Given the description of an element on the screen output the (x, y) to click on. 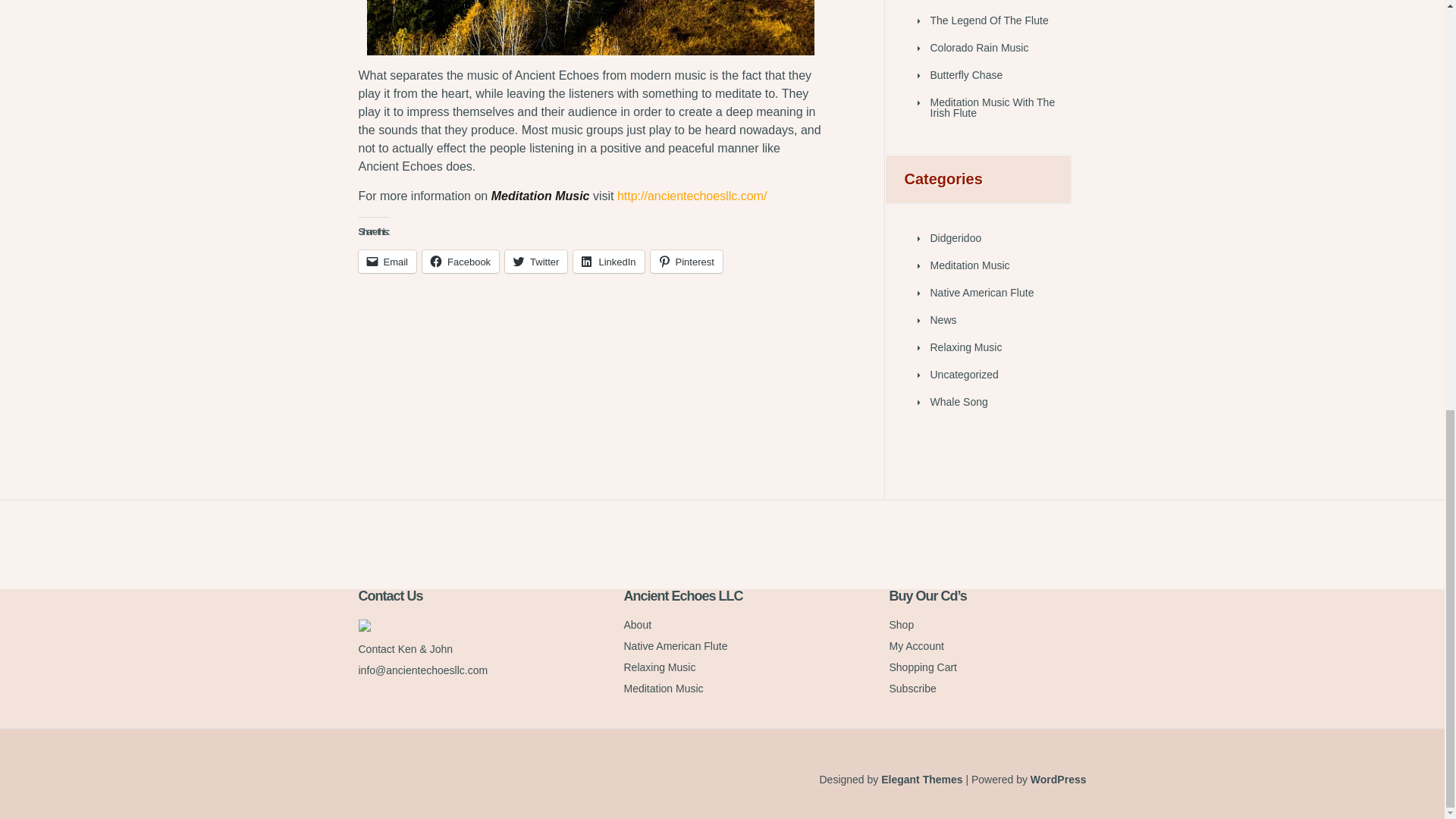
Relaxing Music (965, 346)
Pinterest (686, 261)
Facebook (460, 261)
Twitter (536, 261)
Relaxing Music (659, 666)
Meditation Music With The Irish Flute (992, 107)
Click to share on Twitter (536, 261)
Native American Flute (981, 292)
Meditation Music (589, 27)
Colorado Rain Music (978, 47)
